Given the description of an element on the screen output the (x, y) to click on. 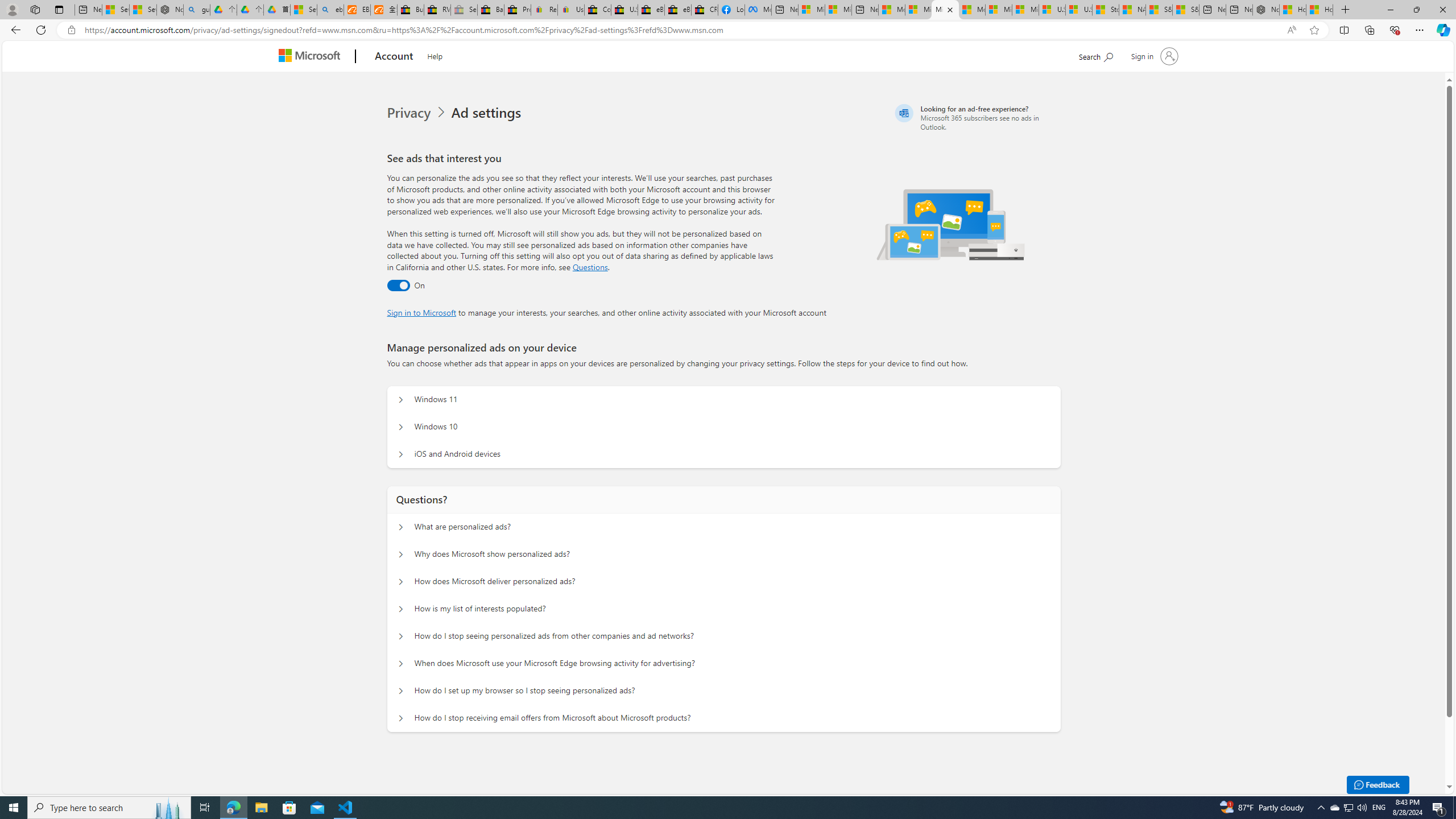
Looking for an ad-free experience? (976, 117)
ebay - Search (329, 9)
guge yunpan - Search (197, 9)
Questions? What are personalized ads? (401, 526)
Press Room - eBay Inc. (517, 9)
Sell worldwide with eBay - Sleeping (463, 9)
Questions? How does Microsoft deliver personalized ads? (401, 581)
Search Microsoft.com (1095, 54)
